Given the description of an element on the screen output the (x, y) to click on. 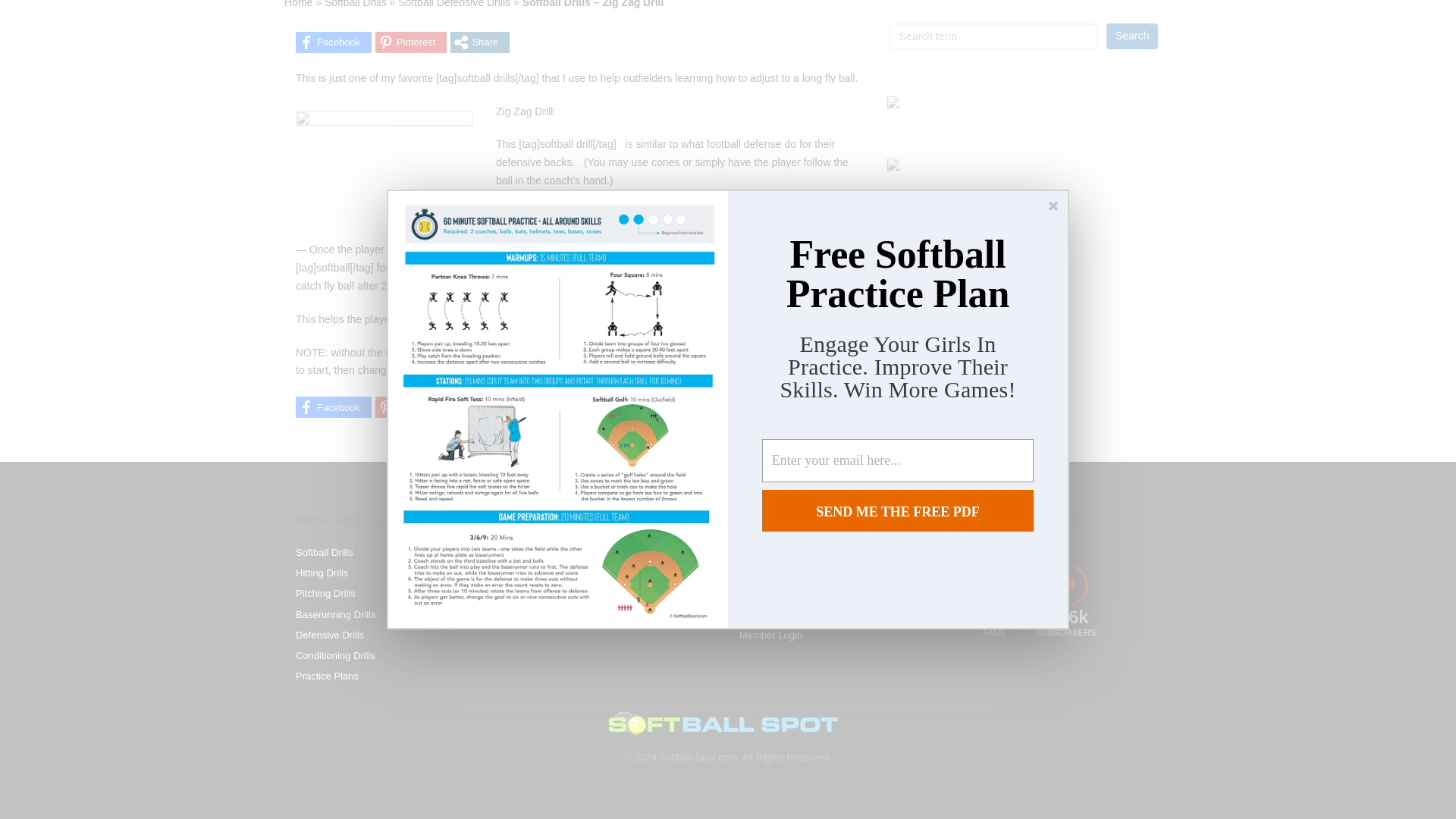
Softball Drills (355, 4)
Home (298, 4)
Facebook (333, 42)
Softball Defensive Drills (454, 4)
Pinterest (410, 42)
Share on Facebook (333, 42)
Search (1131, 36)
Share on Share (479, 42)
Share (479, 42)
Share on Pinterest (410, 42)
